Given the description of an element on the screen output the (x, y) to click on. 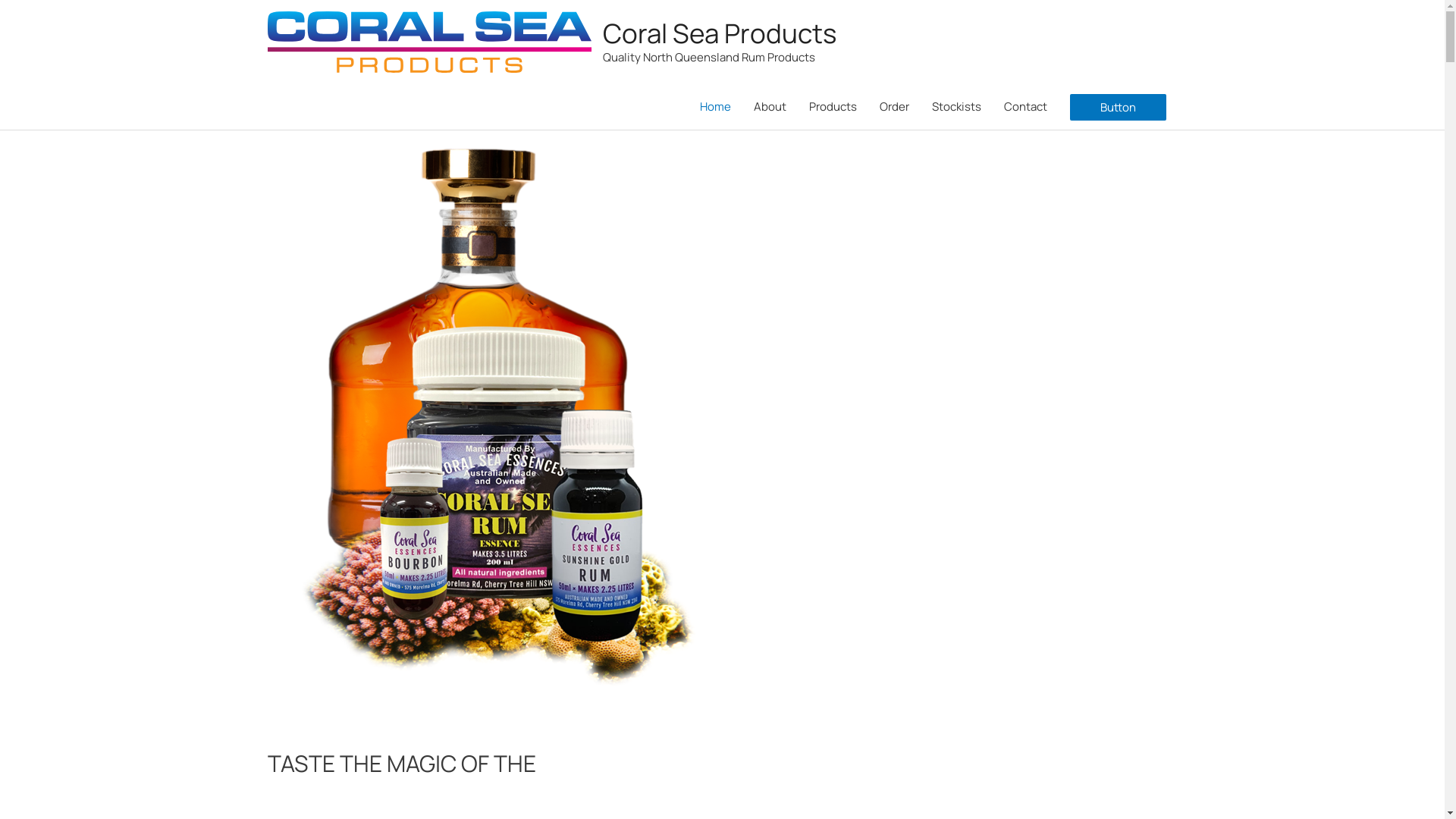
About Element type: text (769, 106)
Products Element type: text (832, 106)
Contact Element type: text (1024, 106)
Home Element type: text (715, 106)
Stockists Element type: text (956, 106)
Order Element type: text (893, 106)
Button Element type: text (1117, 107)
Coral Sea Products Element type: text (718, 33)
